Given the description of an element on the screen output the (x, y) to click on. 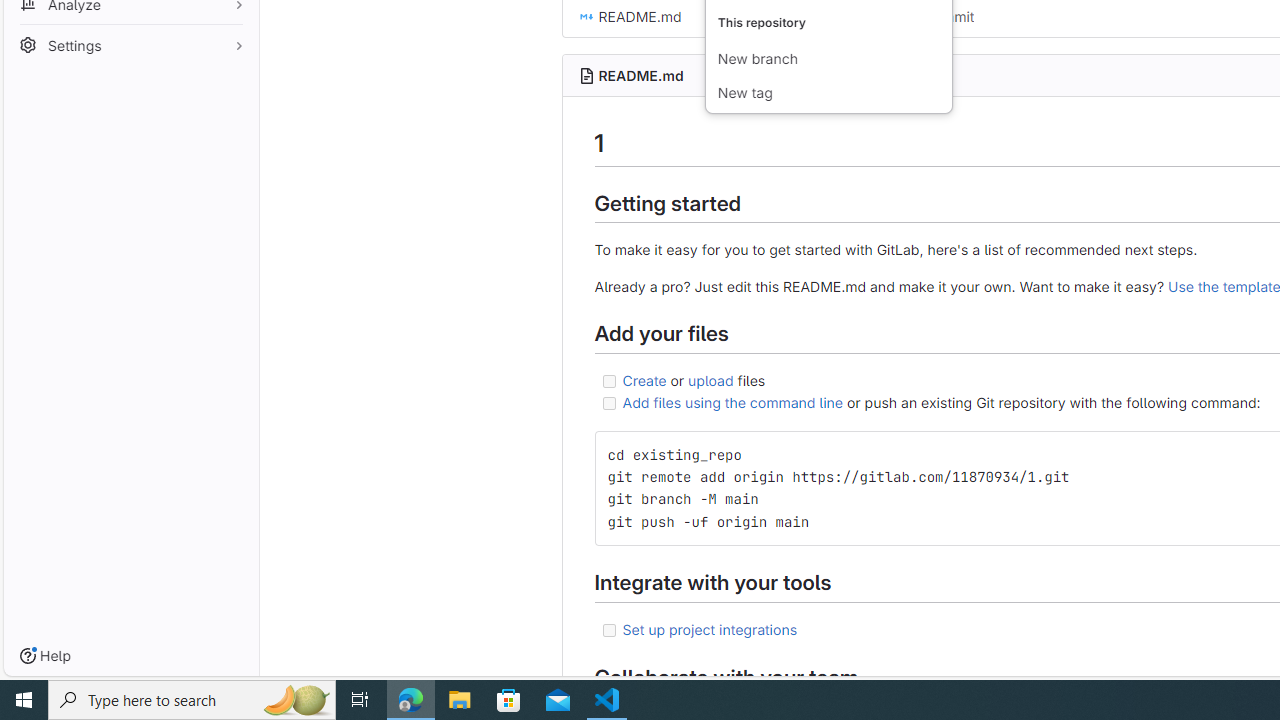
upload (710, 379)
New tag (828, 93)
Create (644, 379)
Help (45, 655)
New branch (828, 59)
New branch (828, 59)
New tag (828, 93)
Class: s16 position-relative file-icon (586, 16)
Add files using the command line (732, 402)
README.md (640, 75)
Set up project integrations (709, 628)
Initial commit (930, 16)
Class: task-list-item-checkbox (608, 629)
